Given the description of an element on the screen output the (x, y) to click on. 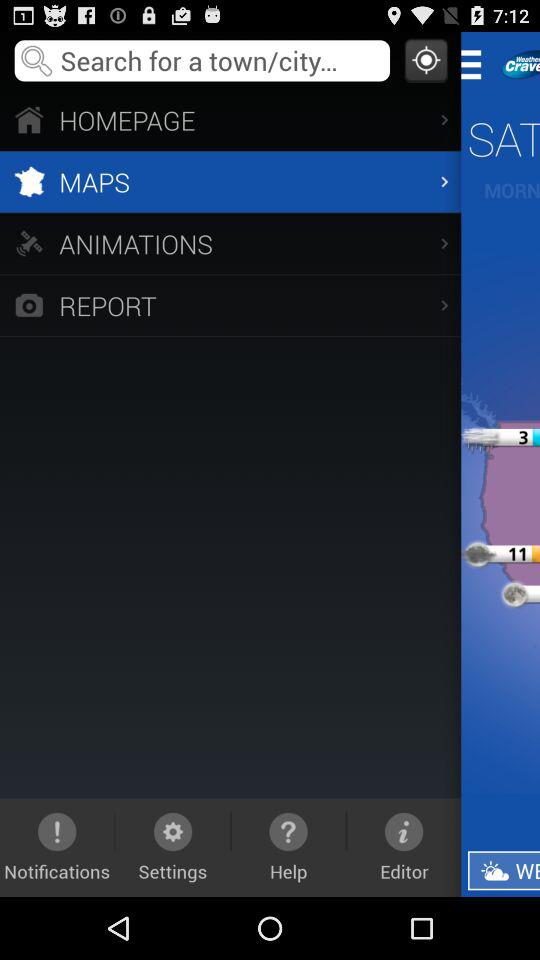
jump until report app (230, 304)
